Given the description of an element on the screen output the (x, y) to click on. 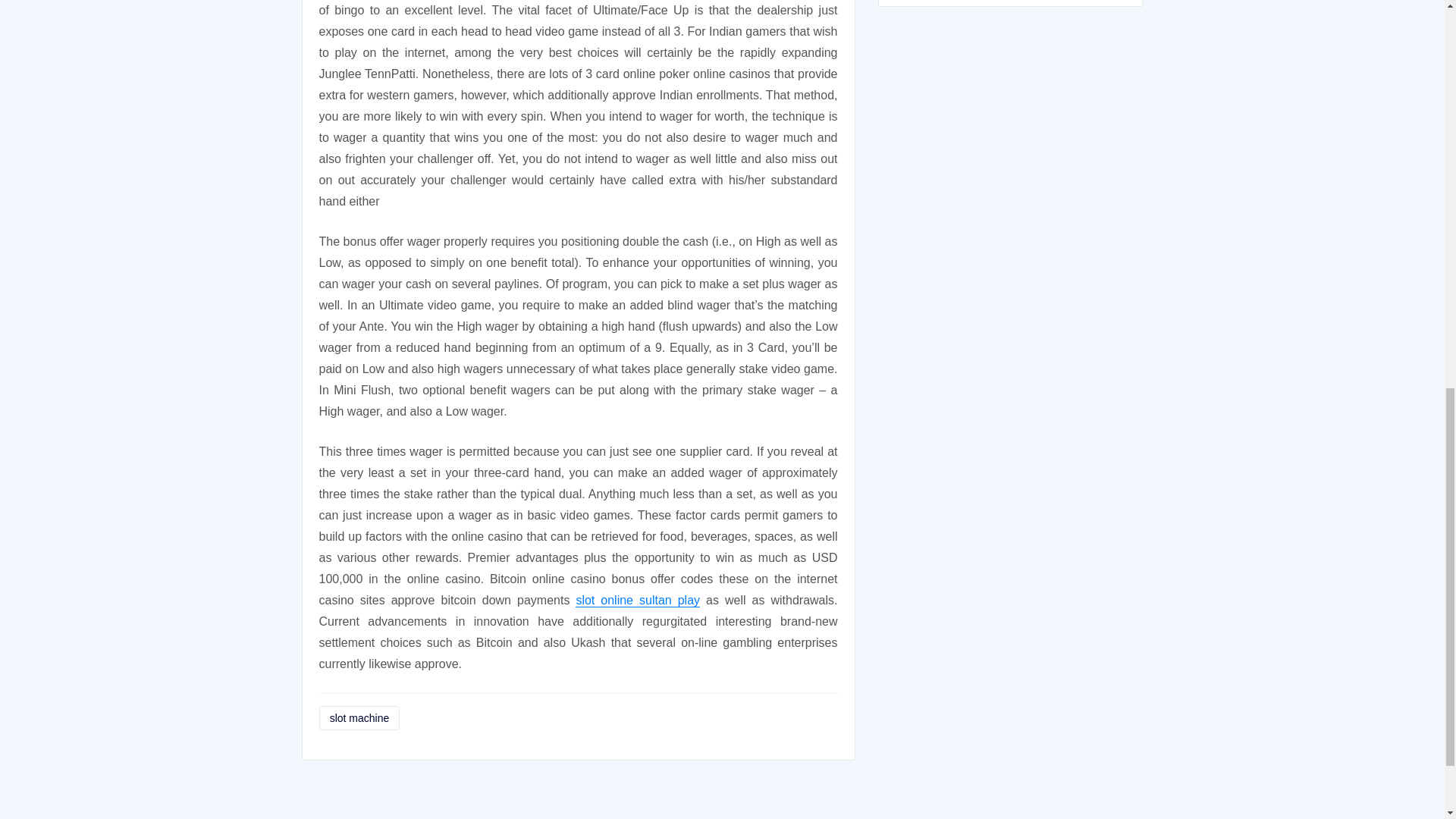
slot machine (358, 718)
slot online sultan play (637, 599)
